Given the description of an element on the screen output the (x, y) to click on. 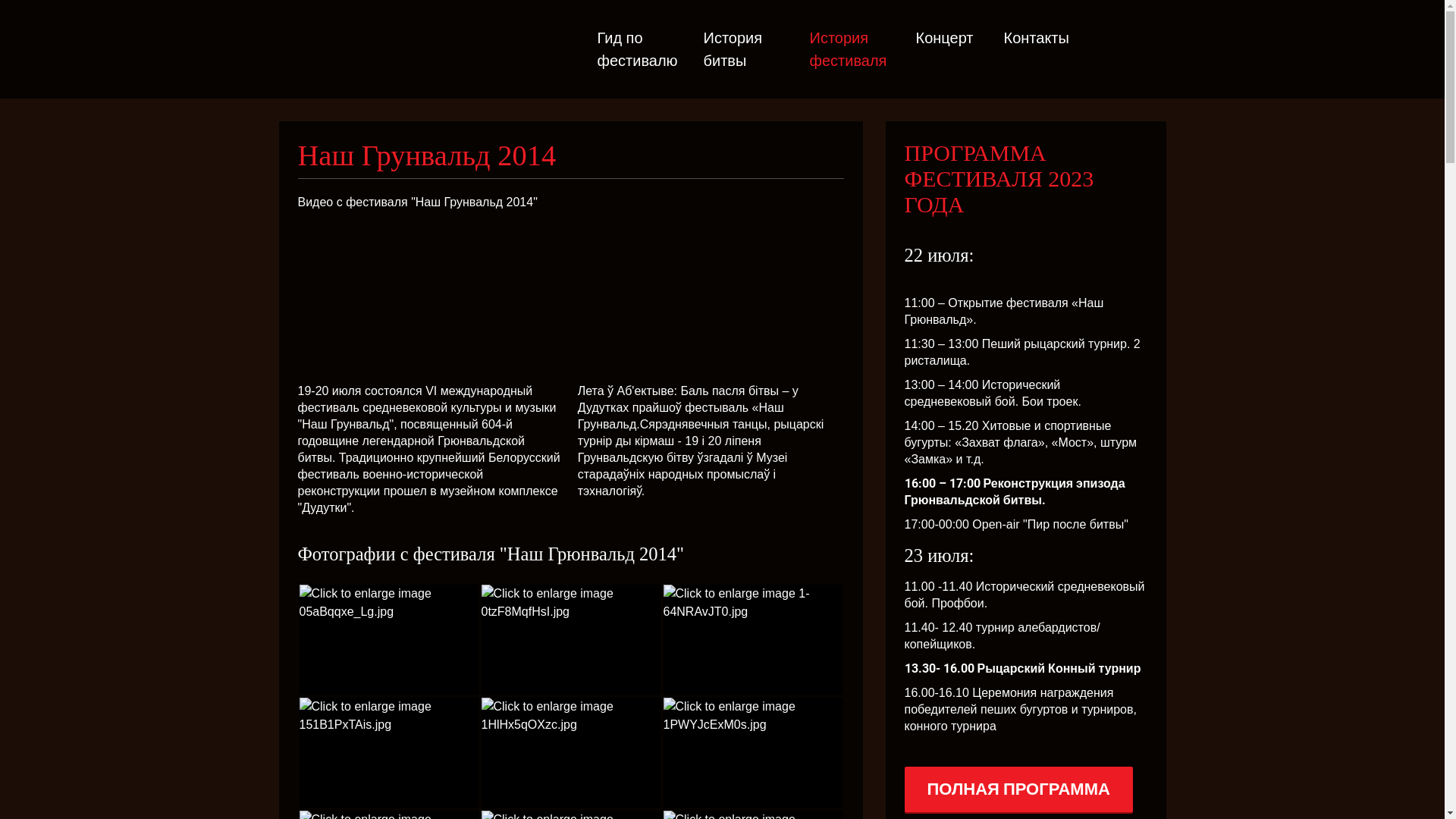
Click to enlarge image 1HlHx5qOXzc.jpg Element type: hover (569, 752)
Click to enlarge image 1-64NRAvJT0.jpg Element type: hover (751, 639)
Click to enlarge image 151B1PxTAis.jpg Element type: hover (387, 752)
Click to enlarge image 05aBqqxe_Lg.jpg Element type: hover (387, 639)
Click to enlarge image 1PWYJcExM0s.jpg Element type: hover (751, 752)
Click to enlarge image 0tzF8MqfHsI.jpg Element type: hover (569, 639)
